Given the description of an element on the screen output the (x, y) to click on. 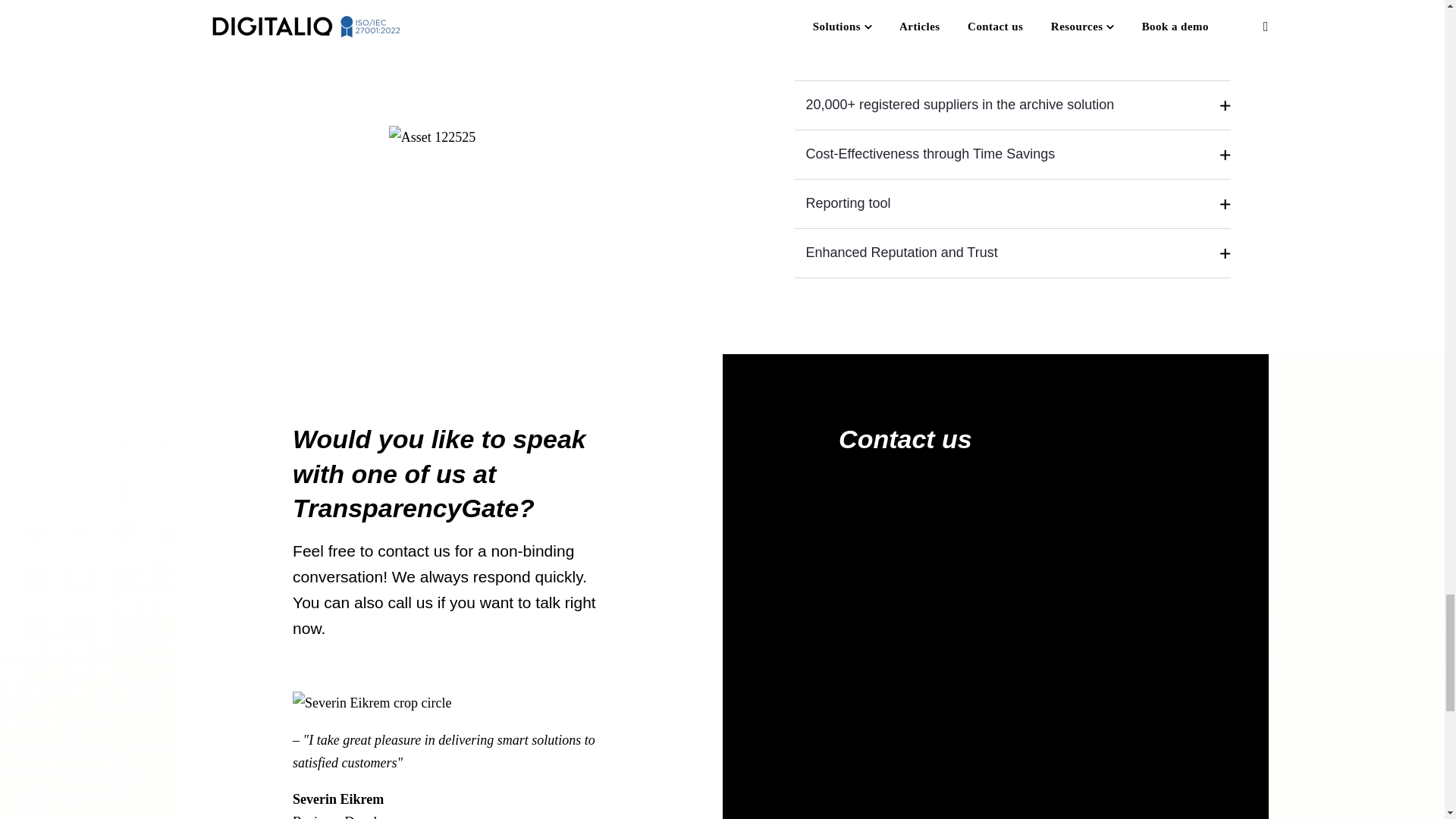
Asset 122525 (432, 137)
